Given the description of an element on the screen output the (x, y) to click on. 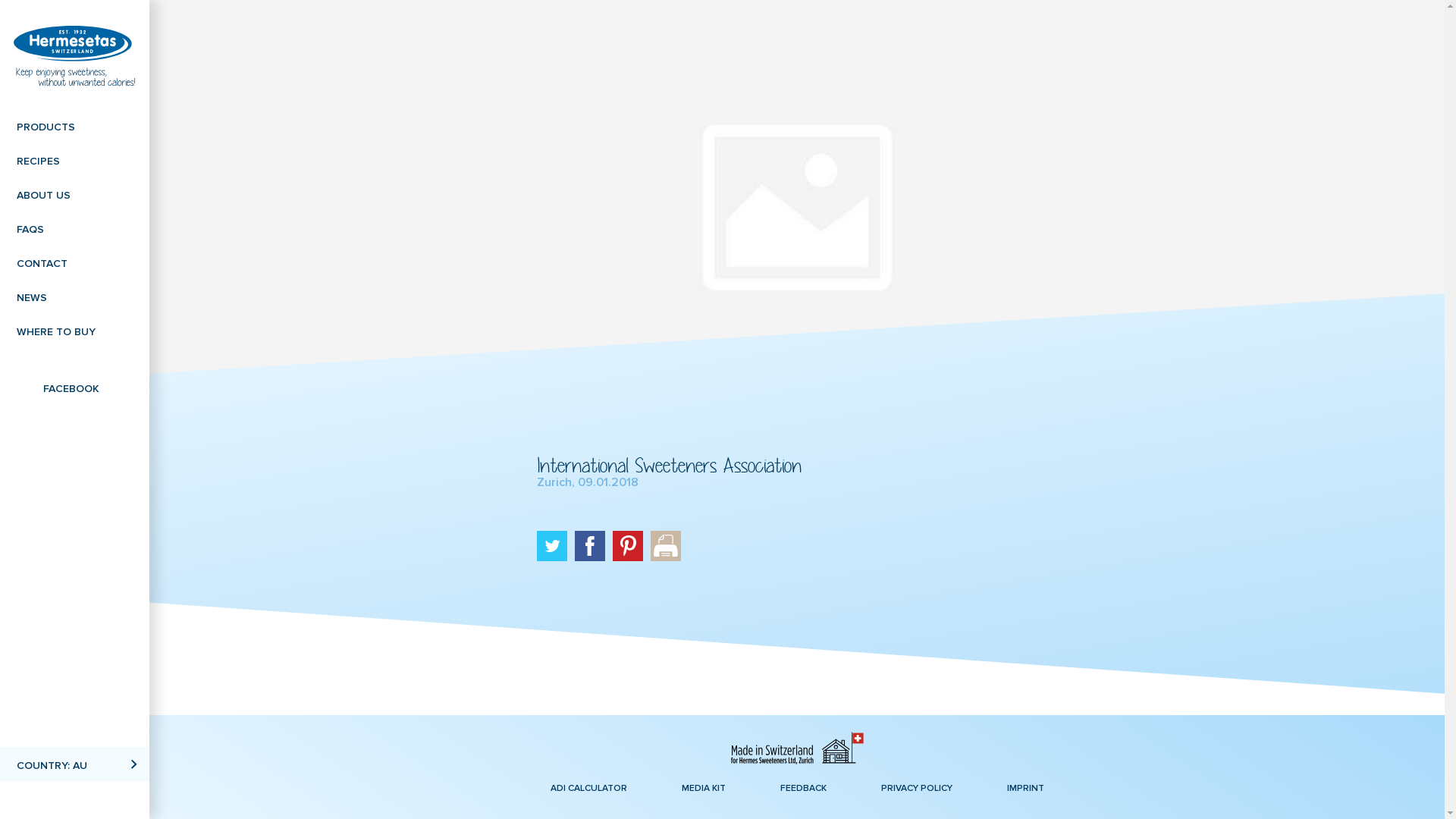
PRODUCTS Element type: text (74, 125)
ADI CALCULATOR Element type: text (588, 786)
COUNTRY: AU Element type: text (74, 763)
FEEDBACK Element type: text (802, 786)
Drucken Element type: text (665, 545)
NEWS Element type: text (74, 296)
Pinterest Element type: text (627, 545)
MEDIA KIT Element type: text (702, 786)
FACEBOOK Element type: text (74, 387)
PRIVACY POLICY Element type: text (916, 786)
CONTACT Element type: text (74, 261)
IMPRINT Element type: text (1025, 786)
Twitter Element type: text (551, 545)
ABOUT US Element type: text (74, 193)
RECIPES Element type: text (74, 159)
FAQS Element type: text (74, 227)
WHERE TO BUY Element type: text (74, 330)
Facebook Element type: text (589, 545)
